Given the description of an element on the screen output the (x, y) to click on. 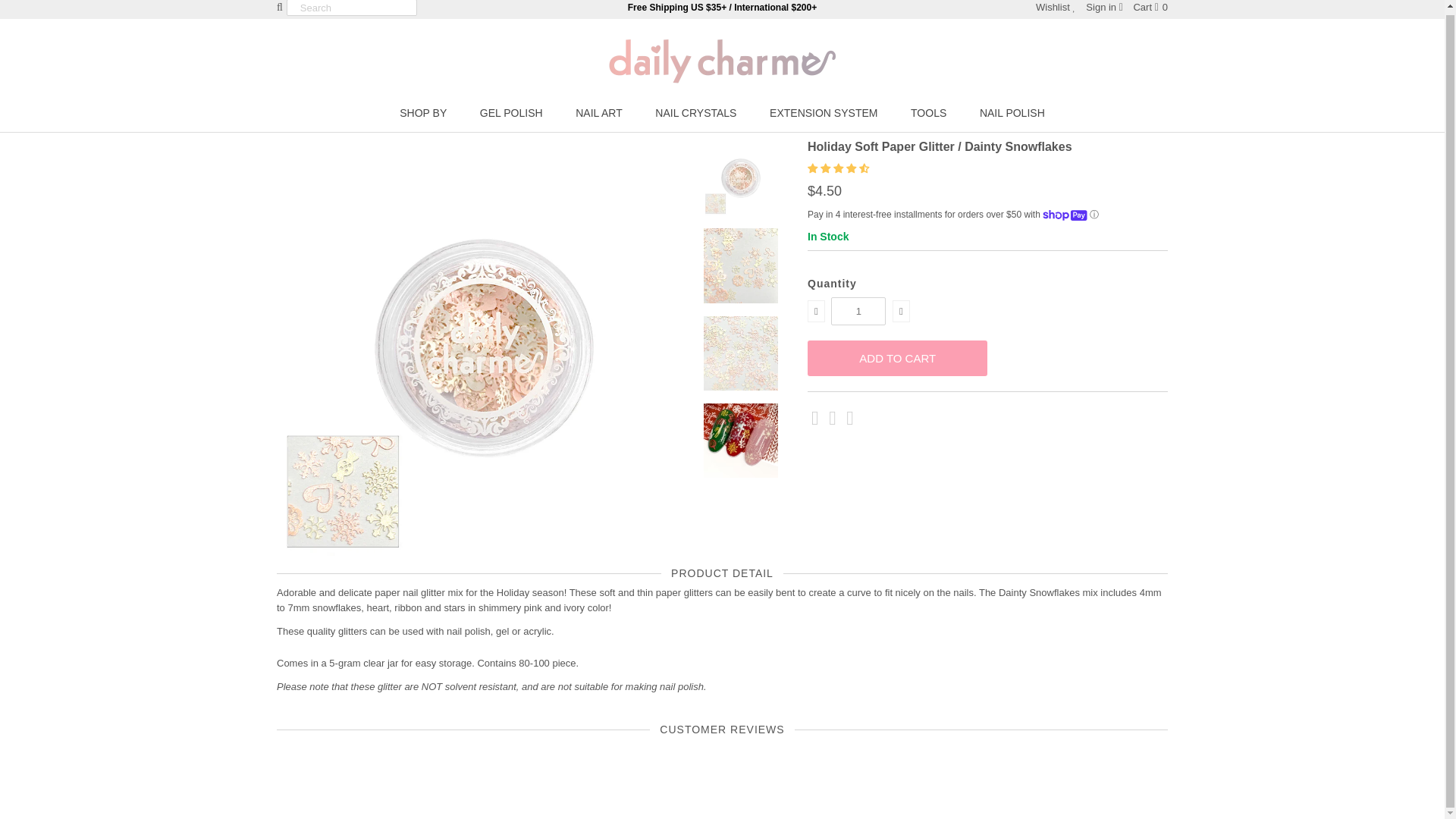
Add to Cart (897, 357)
Wishlist (1055, 7)
Cart 0 (1149, 7)
1 (858, 311)
Sign in (1104, 7)
